Given the description of an element on the screen output the (x, y) to click on. 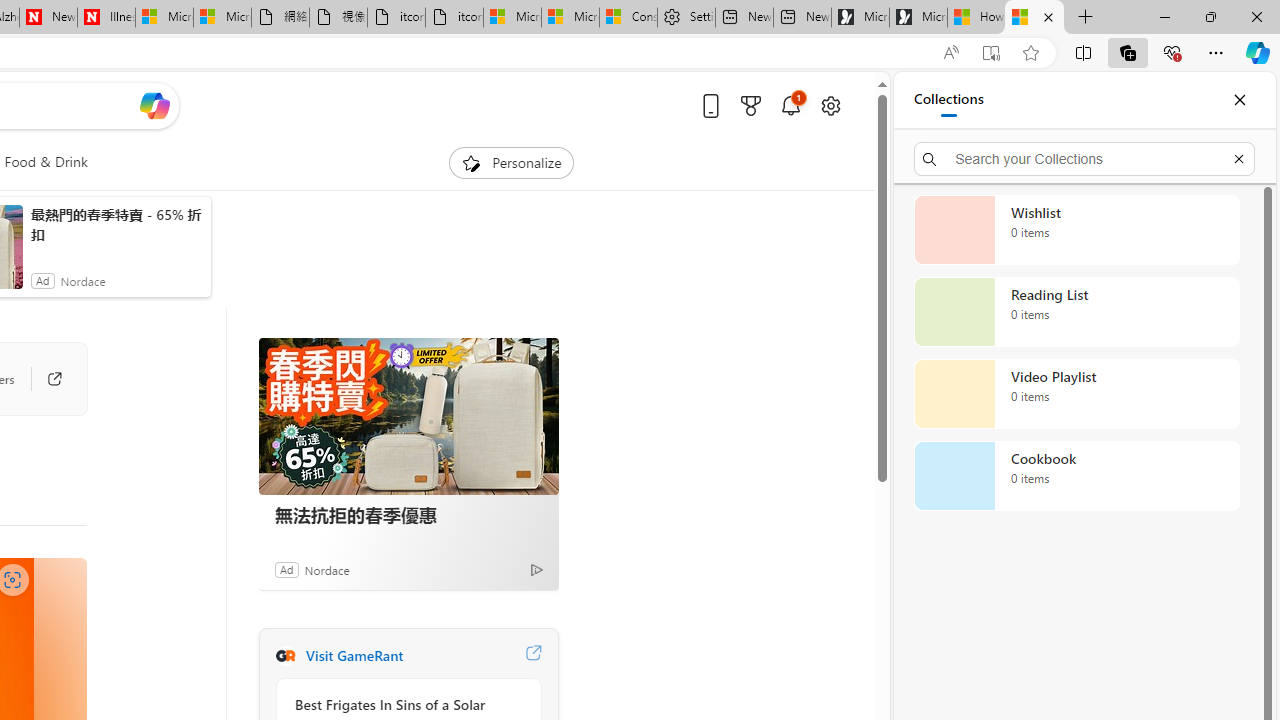
itconcepthk.com/projector_solutions.mp4 (454, 17)
Microsoft rewards (749, 105)
